Given the description of an element on the screen output the (x, y) to click on. 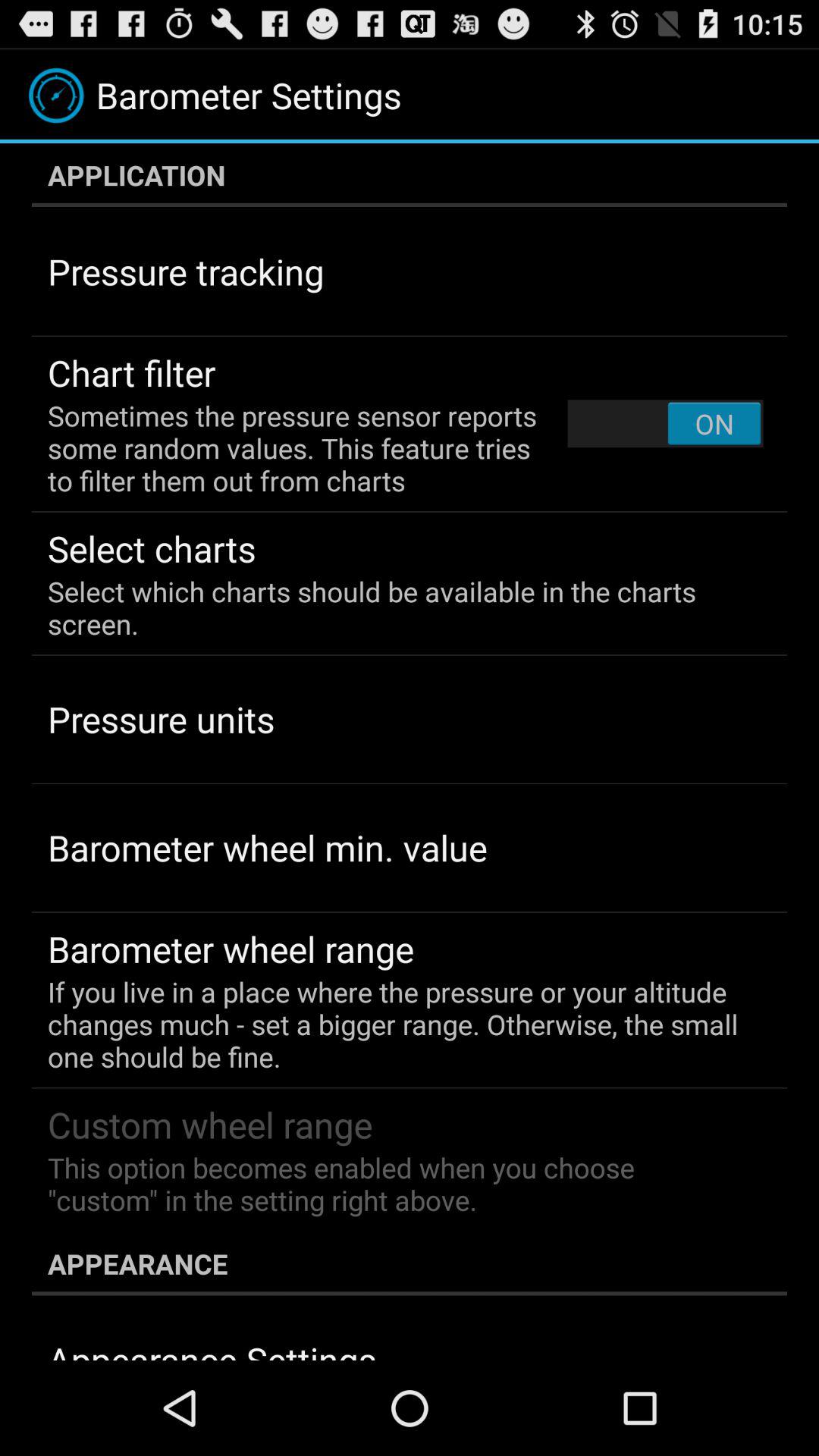
jump until pressure units item (160, 719)
